Given the description of an element on the screen output the (x, y) to click on. 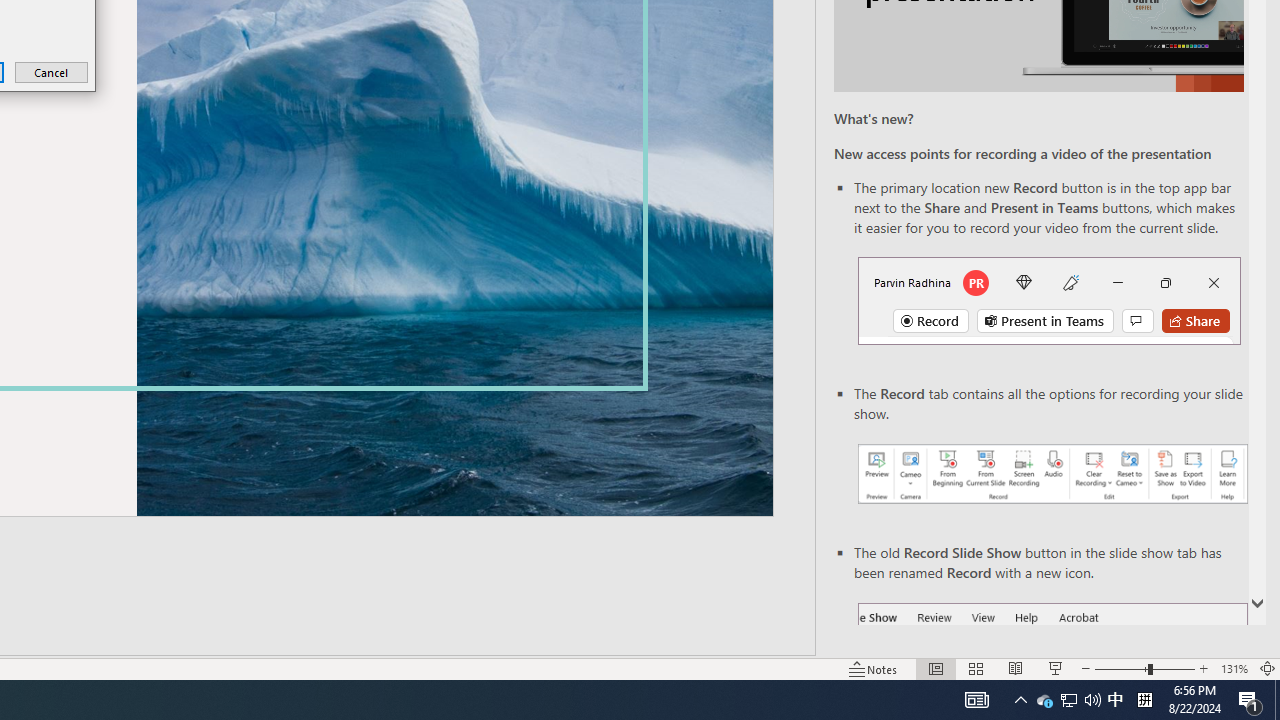
Record your presentations screenshot one (1052, 473)
Record button in top bar (1049, 300)
